Given the description of an element on the screen output the (x, y) to click on. 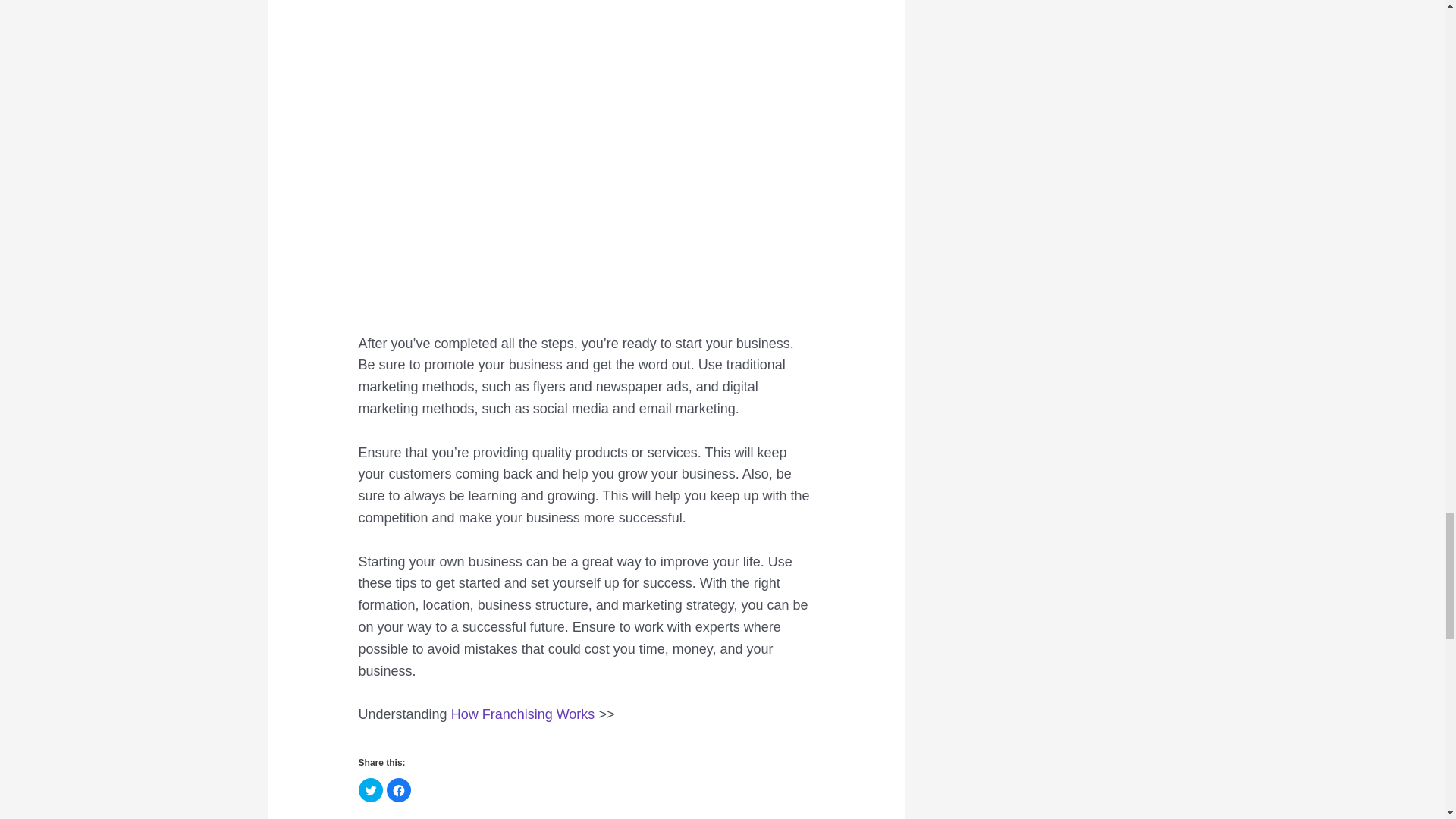
Click to share on Facebook (398, 790)
How Franchising Works (523, 713)
Click to share on Twitter (370, 790)
